Given the description of an element on the screen output the (x, y) to click on. 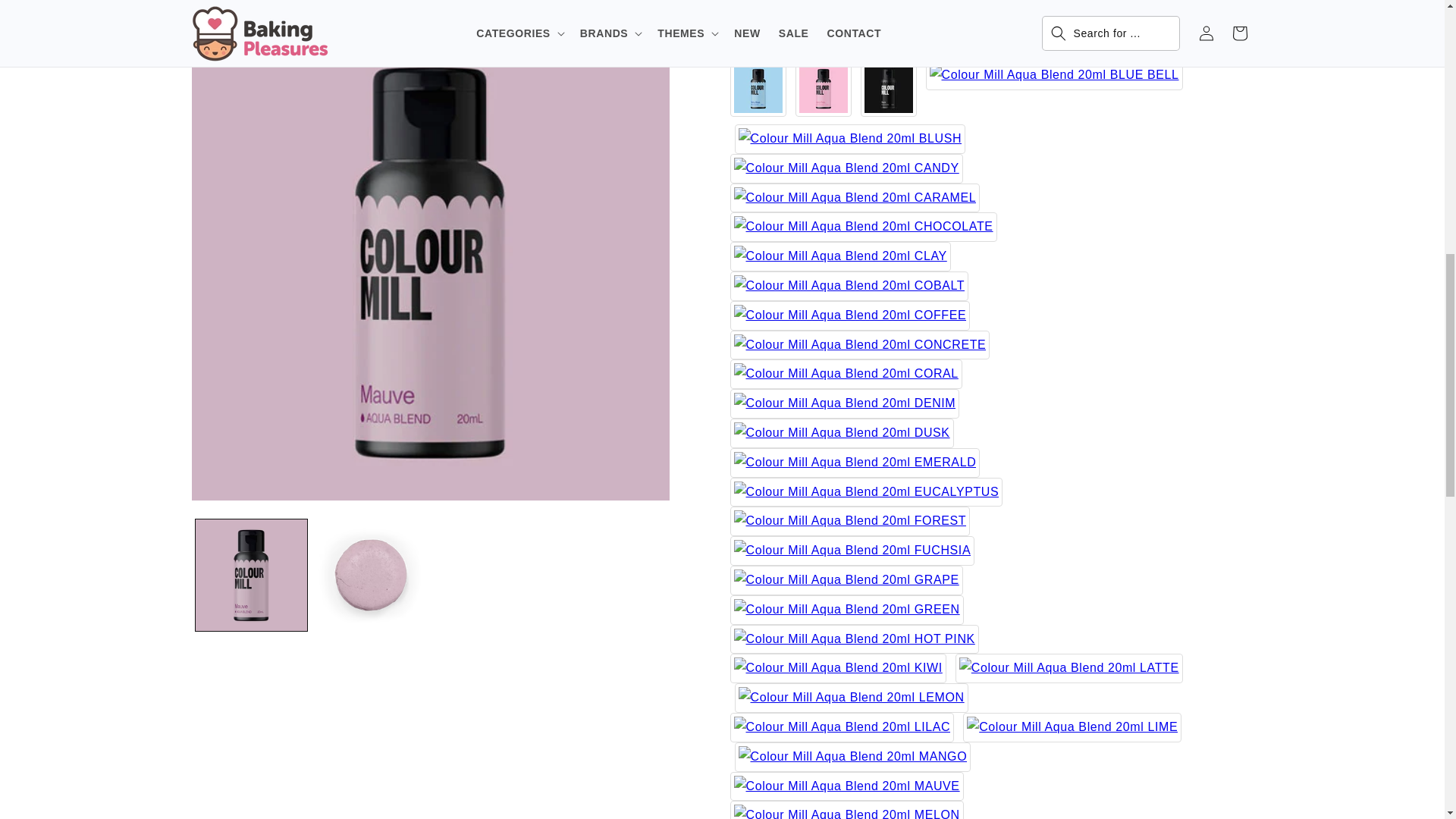
Colour Mill Aqua Blend 20ml CLAY (839, 245)
Colour Mill Aqua Blend 20ml CORAL (844, 362)
Colour Mill Aqua Blend 20ml DENIM (844, 392)
Colour Mill Aqua Blend 20ml FOREST (849, 509)
Colour Mill Aqua Blend 20ml BABY BLUE (757, 77)
Colour Mill Aqua Blend 20ml BABY PINK (822, 77)
Colour Mill Aqua Blend 20ml FUCHSIA (851, 539)
Colour Mill Aqua Blend 20ml CARAMEL (854, 186)
Colour Mill Aqua Blend 20ml EMERALD (854, 451)
Colour Mill Aqua Blend 20ml CHOCOLATE (862, 215)
Colour Mill Aqua Blend 20ml CANDY (845, 156)
Colour Mill Aqua Blend 20ml BLUE BELL (1053, 63)
Colour Mill Aqua Blend 20ml GRAPE (845, 568)
Colour Mill Aqua Blend 20ml COFFEE (849, 304)
Colour Mill Aqua Blend 20ml BLUSH (849, 127)
